Given the description of an element on the screen output the (x, y) to click on. 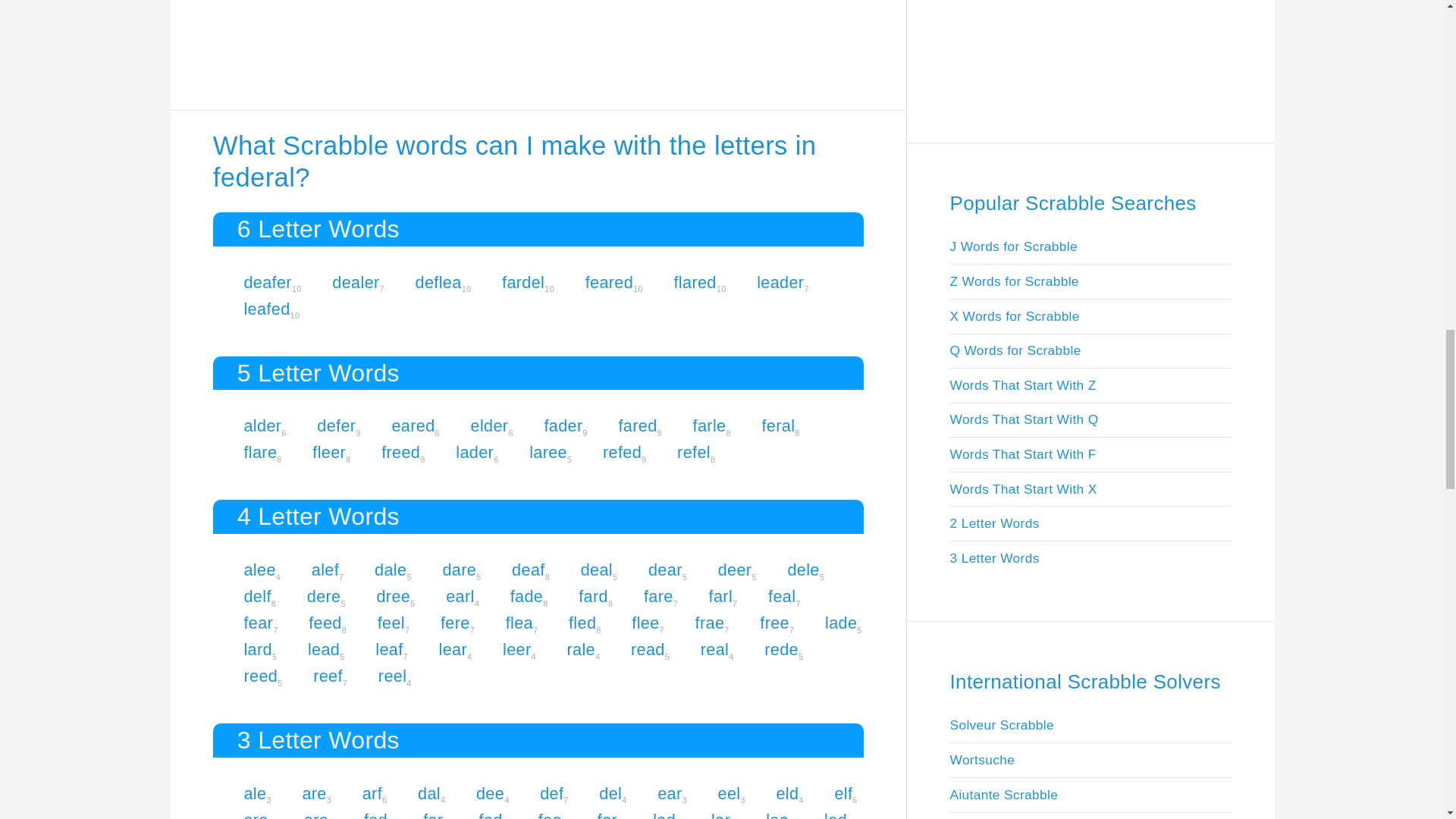
dealer (354, 281)
deafer (267, 281)
fardel (523, 281)
feared (609, 281)
deflea (437, 281)
flared (694, 281)
